Given the description of an element on the screen output the (x, y) to click on. 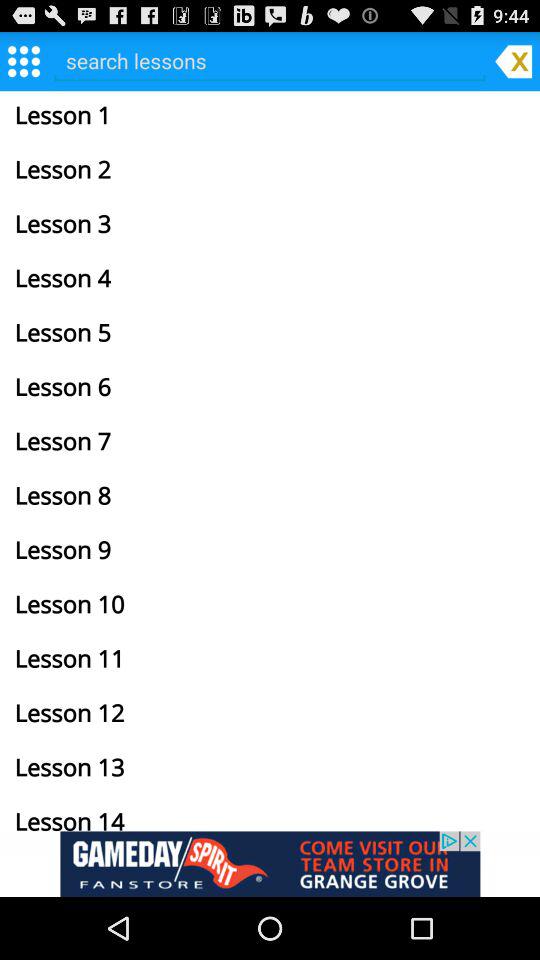
more tools (23, 60)
